Given the description of an element on the screen output the (x, y) to click on. 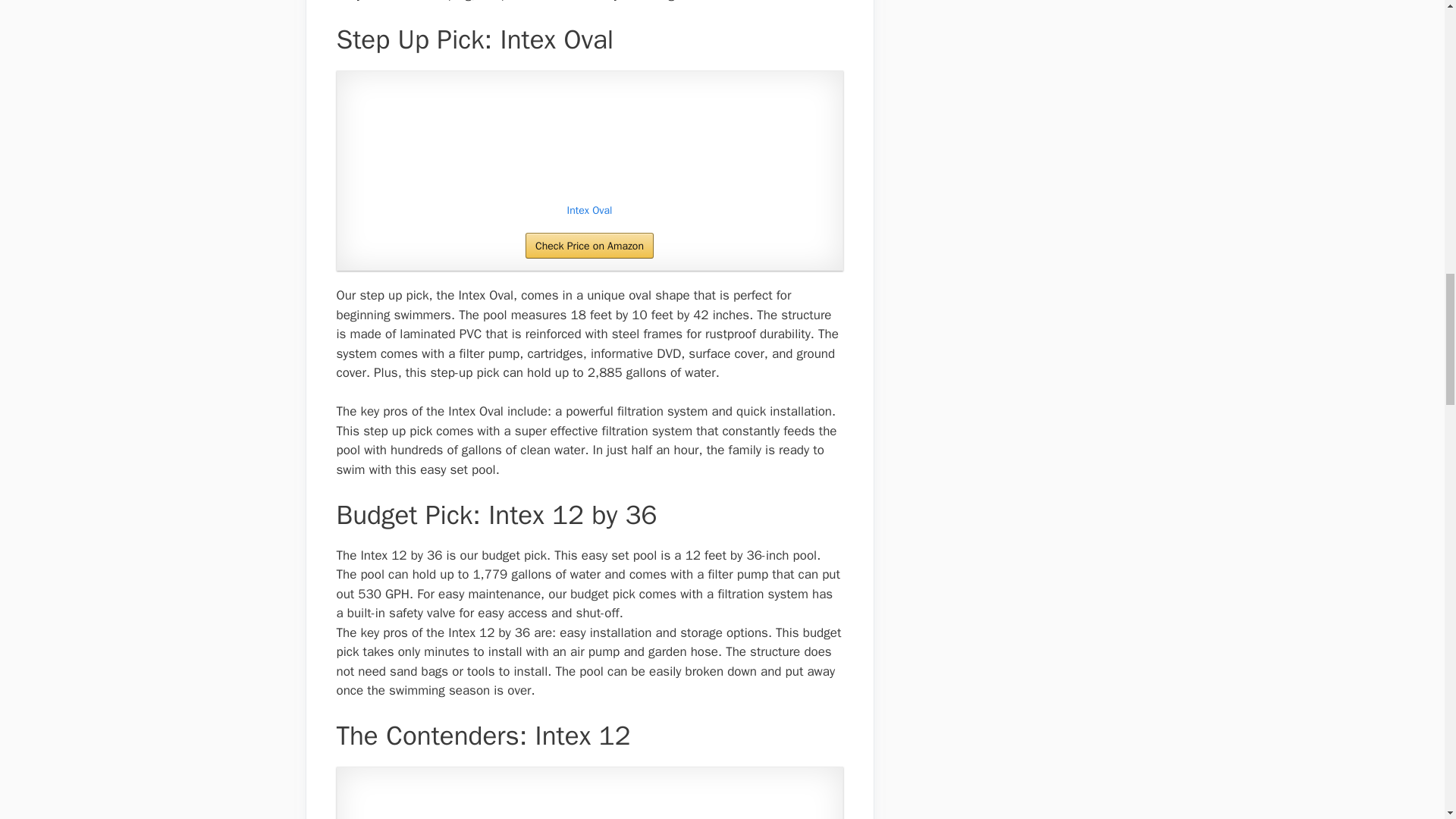
Intex 12 (590, 798)
Check Price on Amazon (589, 245)
Best Easy Set Pool 2020 3 (589, 798)
Best Easy Set Pool 2020 2 (589, 139)
Check Price on Amazon (589, 245)
Intex Oval (590, 210)
Intex Oval (590, 210)
Intex Oval (590, 139)
